Given the description of an element on the screen output the (x, y) to click on. 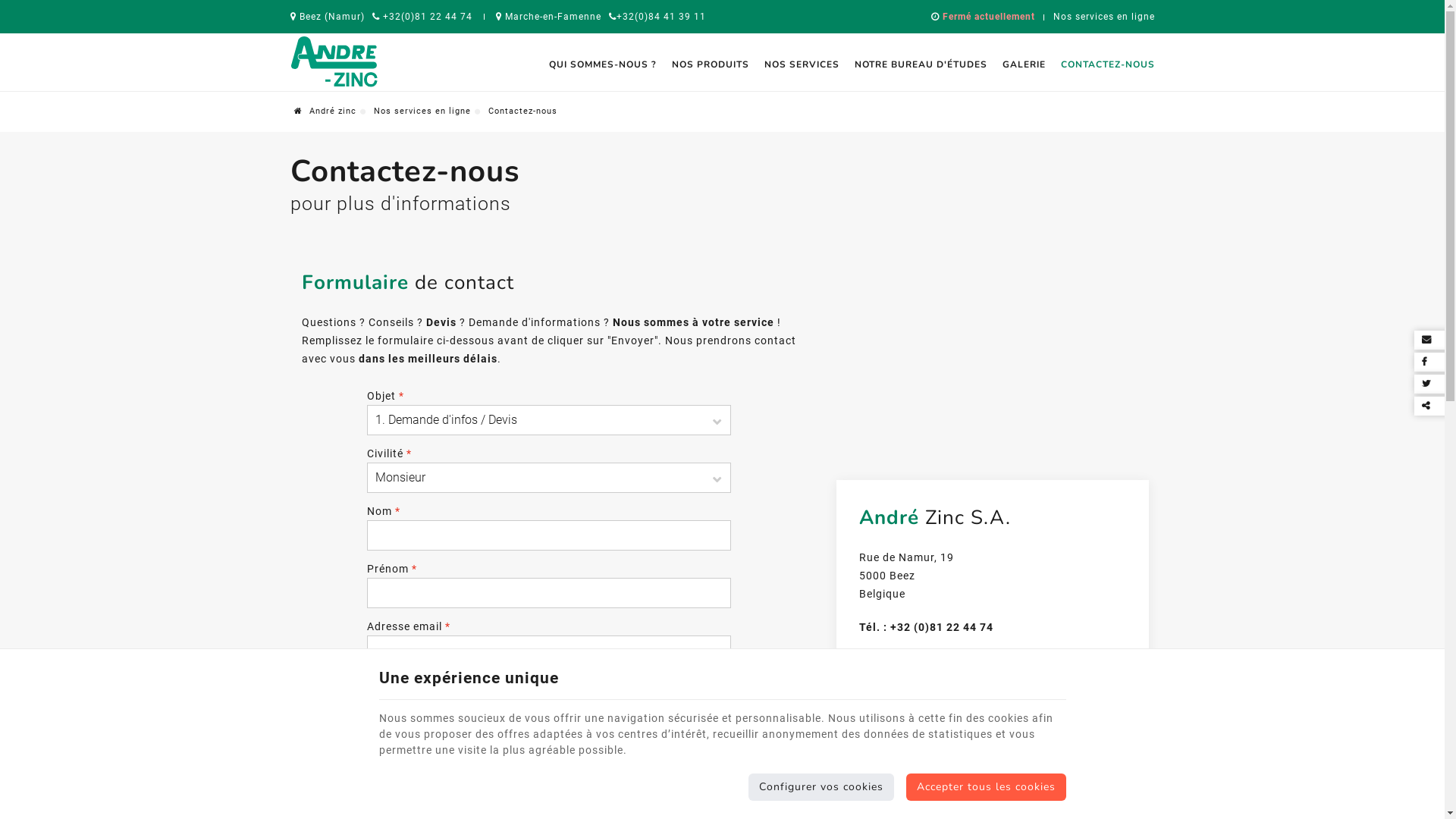
+32(0)81 22 44 74 Element type: text (421, 16)
Partager ce contenu Element type: text (1433, 405)
QUI SOMMES-NOUS ? Element type: text (602, 64)
NOS SERVICES Element type: text (801, 64)
NOS PRODUITS Element type: text (710, 64)
GALERIE Element type: text (1023, 64)
+32(0)84 41 39 11 Element type: text (656, 16)
CONTACTEZ-NOUS Element type: text (1103, 64)
Nos services en ligne Element type: text (1103, 16)
Accepter tous les cookies Element type: text (985, 786)
Configurer vos cookies Element type: text (820, 786)
Nos services en ligne Element type: text (421, 111)
Beez (Namur) Element type: text (326, 16)
Marche-en-Famenne Element type: text (548, 16)
